Given the description of an element on the screen output the (x, y) to click on. 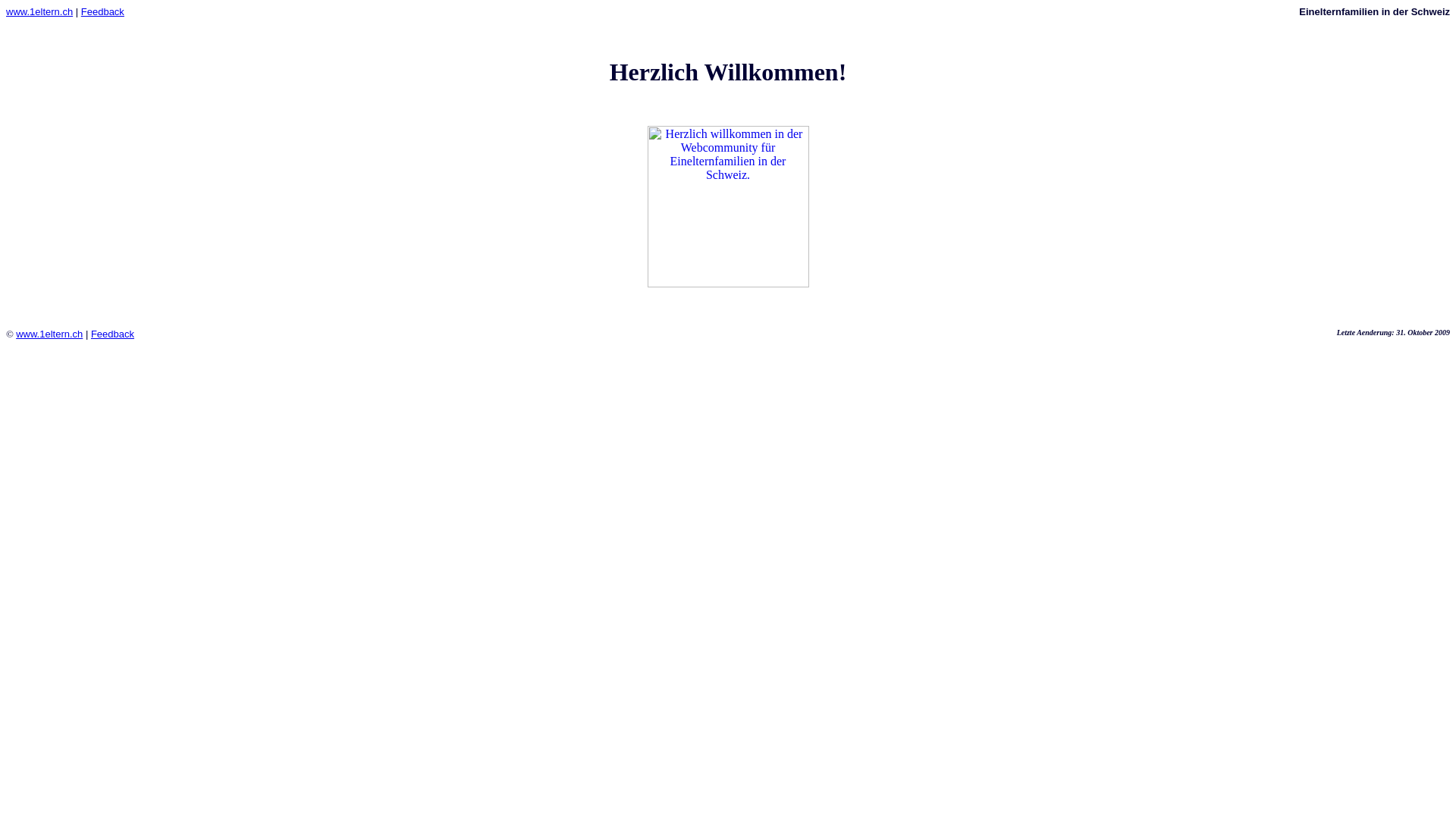
Feedback Element type: text (102, 11)
www.1eltern.ch Element type: text (39, 11)
www.1eltern.ch Element type: text (48, 333)
Feedback Element type: text (112, 333)
